Given the description of an element on the screen output the (x, y) to click on. 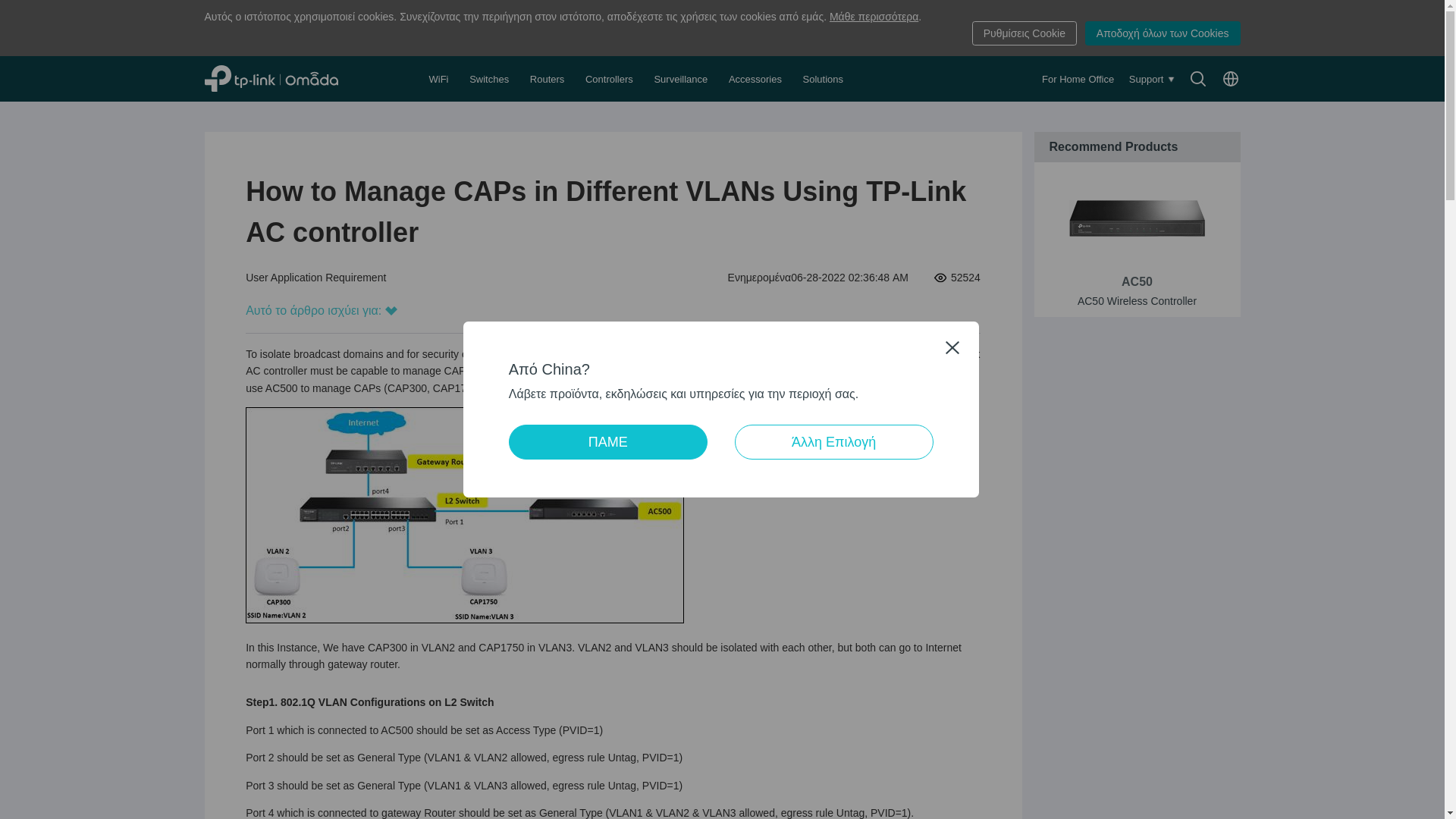
Choose location (1230, 78)
Controllers (609, 78)
Accessories (756, 78)
Switches (490, 78)
TP-Link, Reliably Smart (288, 78)
Surveillance (681, 78)
Solutions (824, 78)
Search icon (1198, 78)
